Given the description of an element on the screen output the (x, y) to click on. 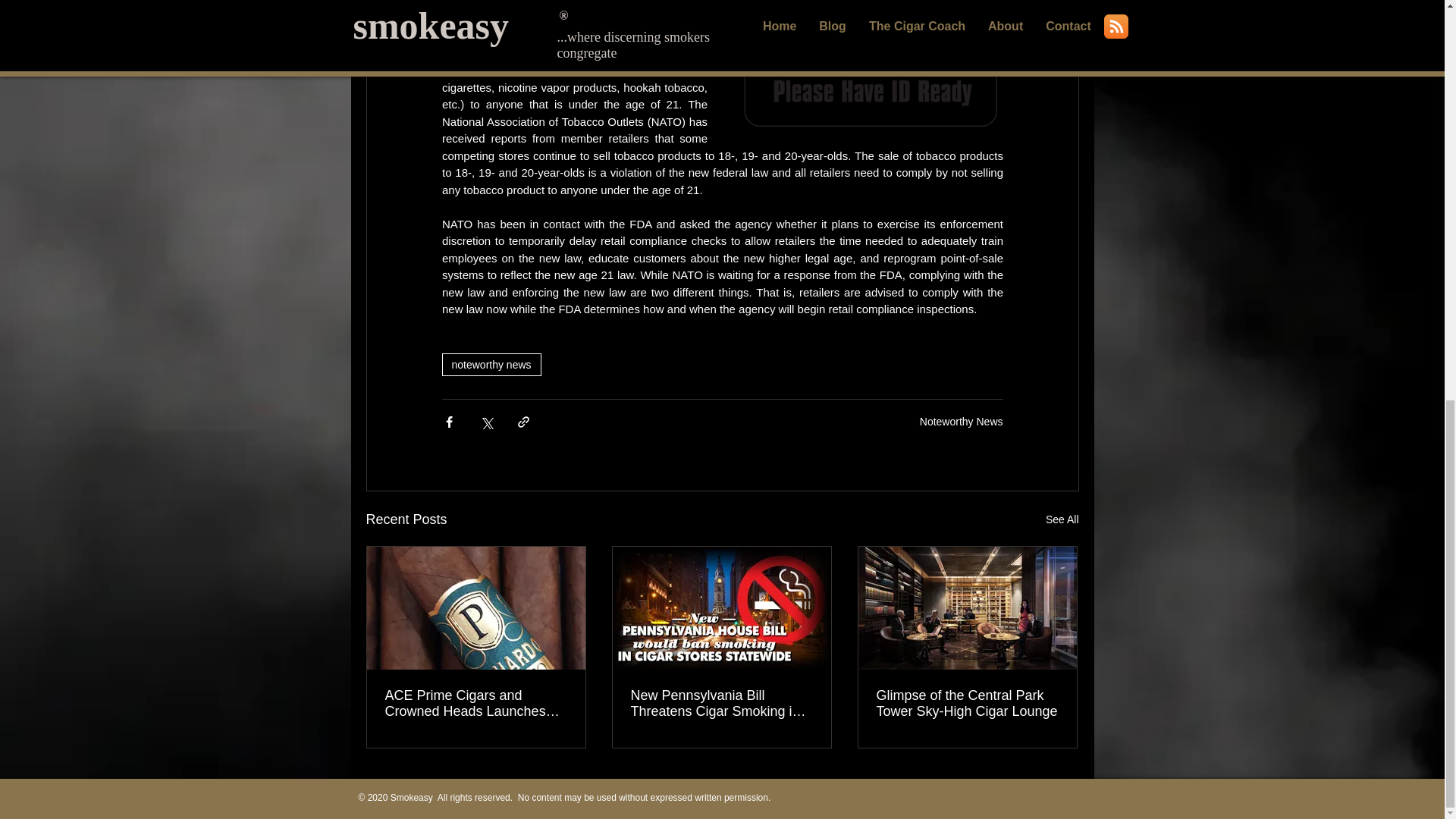
Glimpse of the Central Park Tower Sky-High Cigar Lounge (967, 703)
See All (1061, 519)
Noteworthy News (961, 421)
noteworthy news (490, 363)
